Given the description of an element on the screen output the (x, y) to click on. 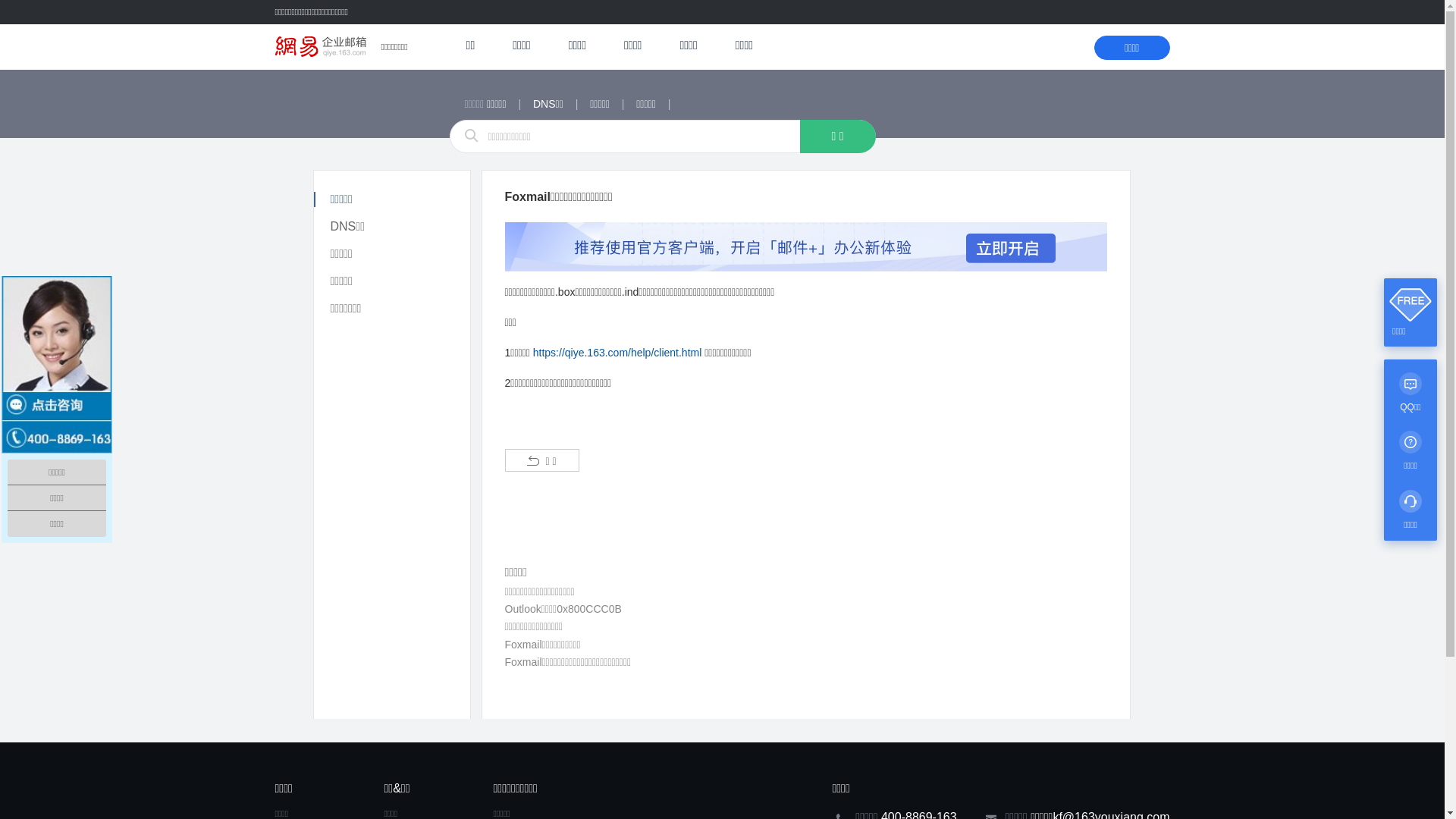
https://qiye.163.com/help/client.html Element type: text (617, 352)
